Given the description of an element on the screen output the (x, y) to click on. 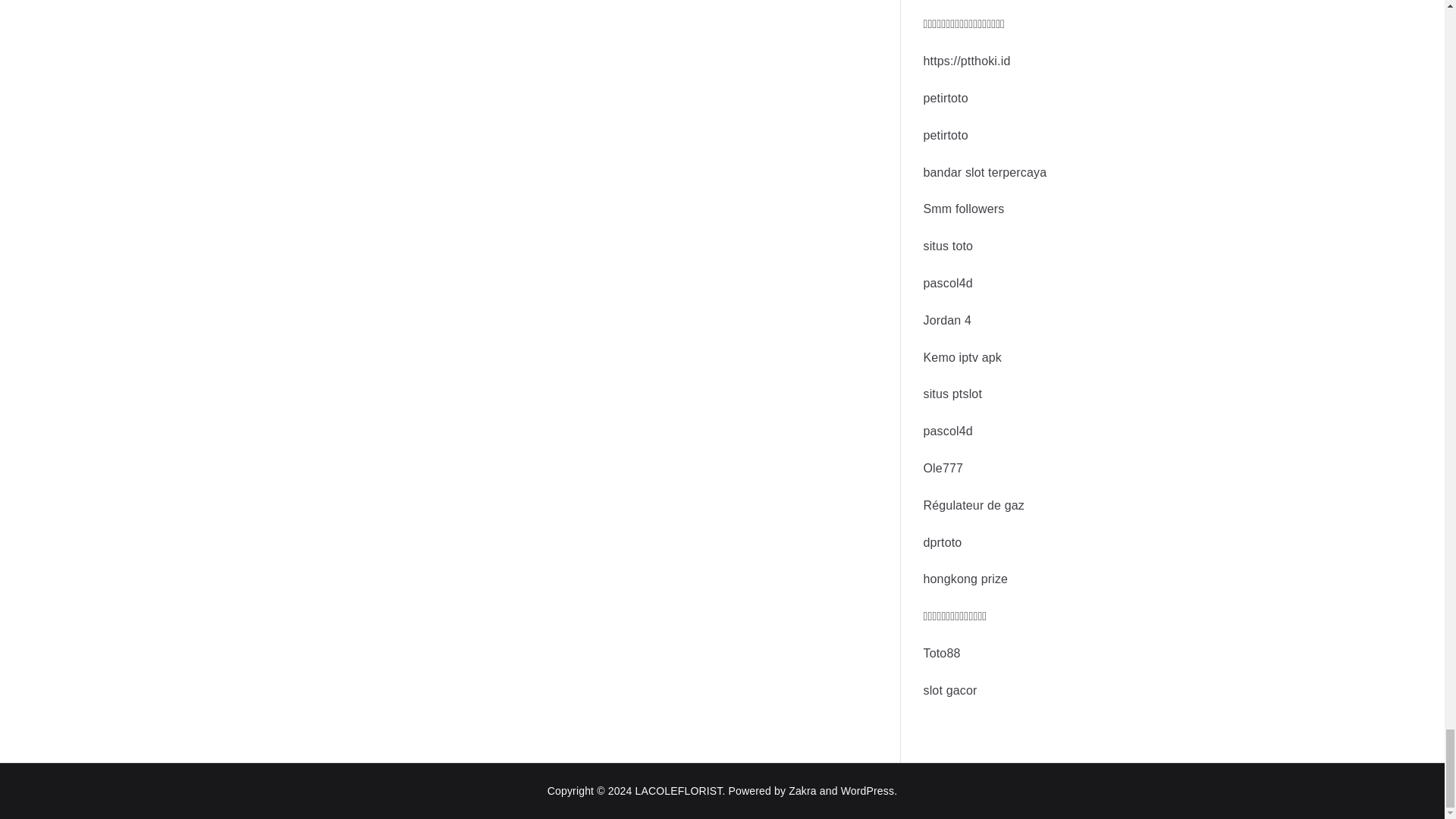
LACOLEFLORIST (678, 789)
Zakra (802, 789)
WordPress (867, 789)
